Given the description of an element on the screen output the (x, y) to click on. 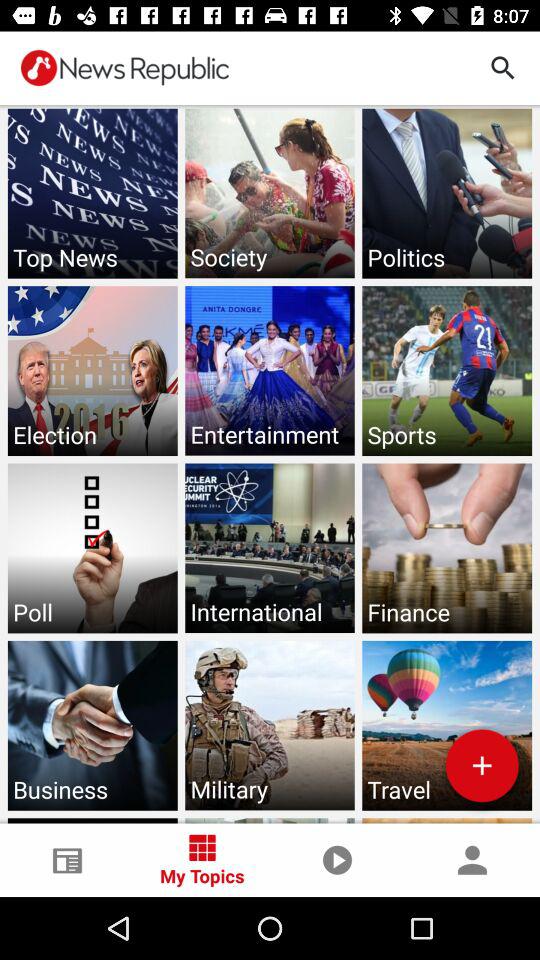
click option between election and sports (269, 371)
click on third row first image (93, 547)
click on the image travel (446, 726)
click on the first picture (93, 194)
select the person icon (472, 859)
select the photo beside the add icon (269, 725)
click on the plus icon at the bottom right (482, 765)
